Given the description of an element on the screen output the (x, y) to click on. 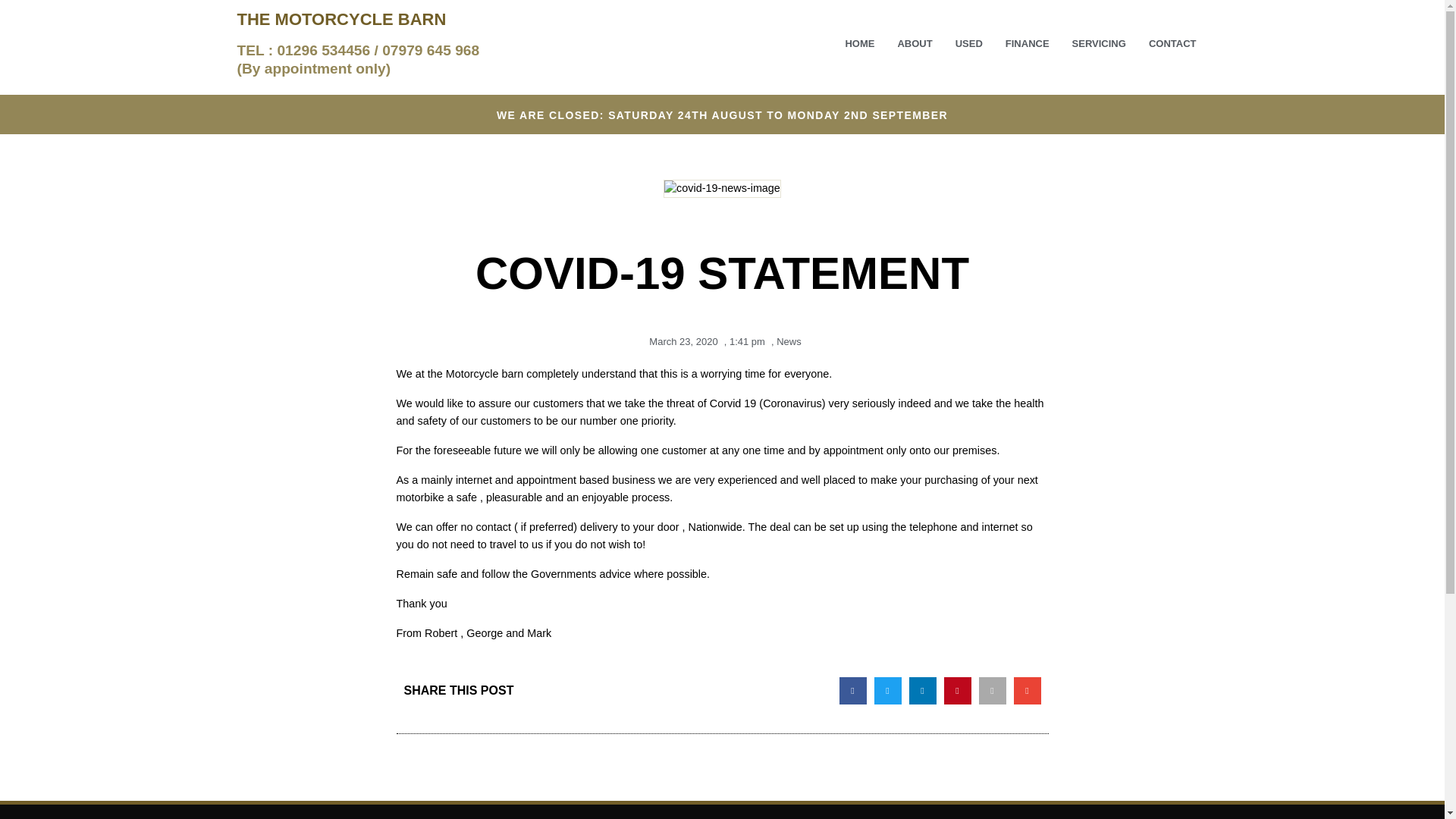
March 23, 2020 (680, 342)
FINANCE (1027, 43)
News (789, 341)
ABOUT (914, 43)
SERVICING (1099, 43)
CONTACT (1172, 43)
07979 645 968 (430, 50)
covid-19-news-image (721, 188)
01296 534456 (322, 50)
